Given the description of an element on the screen output the (x, y) to click on. 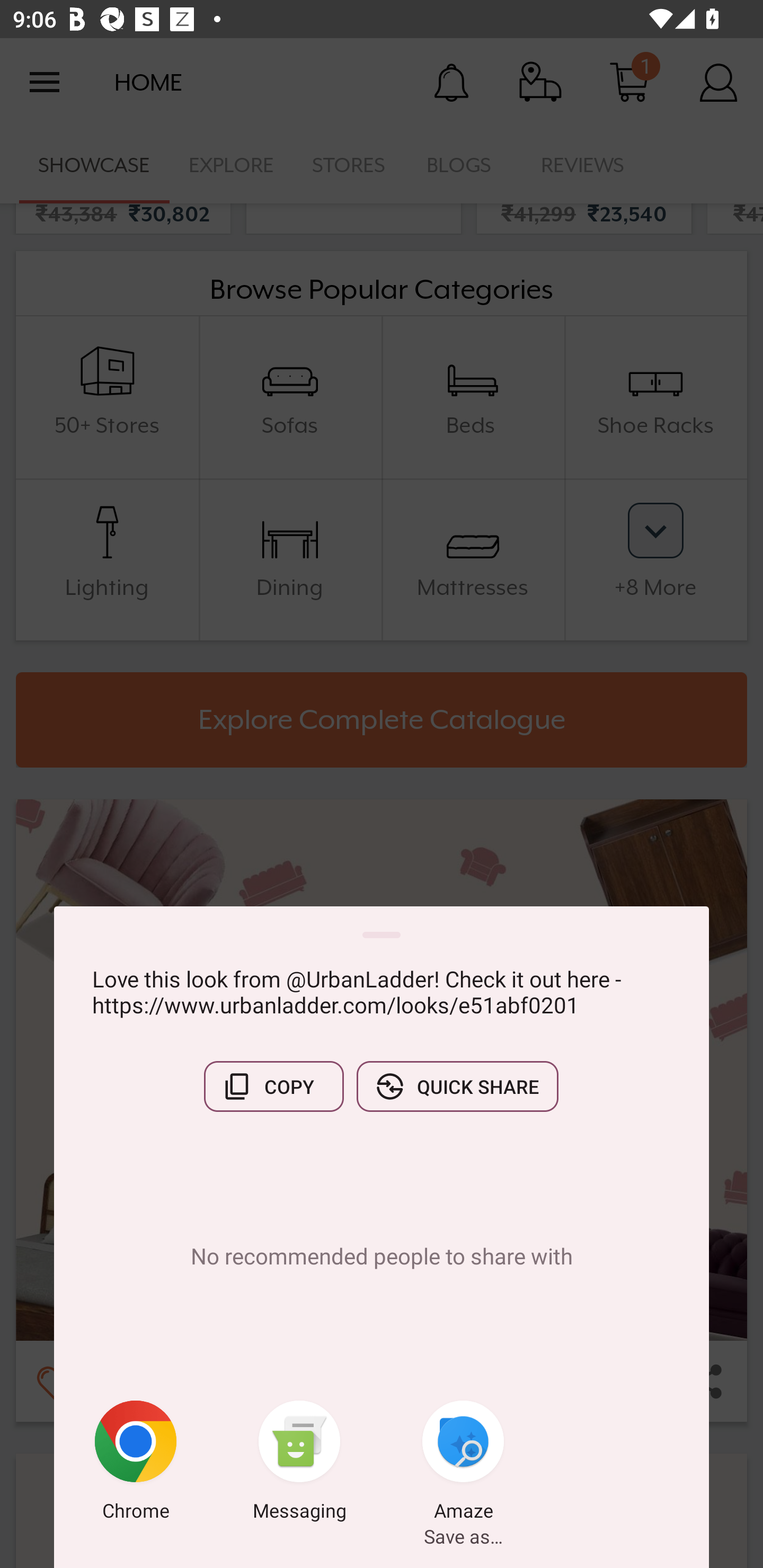
COPY (273, 1086)
QUICK SHARE (457, 1086)
Chrome (135, 1463)
Messaging (299, 1463)
Amaze Save as… (463, 1463)
